Given the description of an element on the screen output the (x, y) to click on. 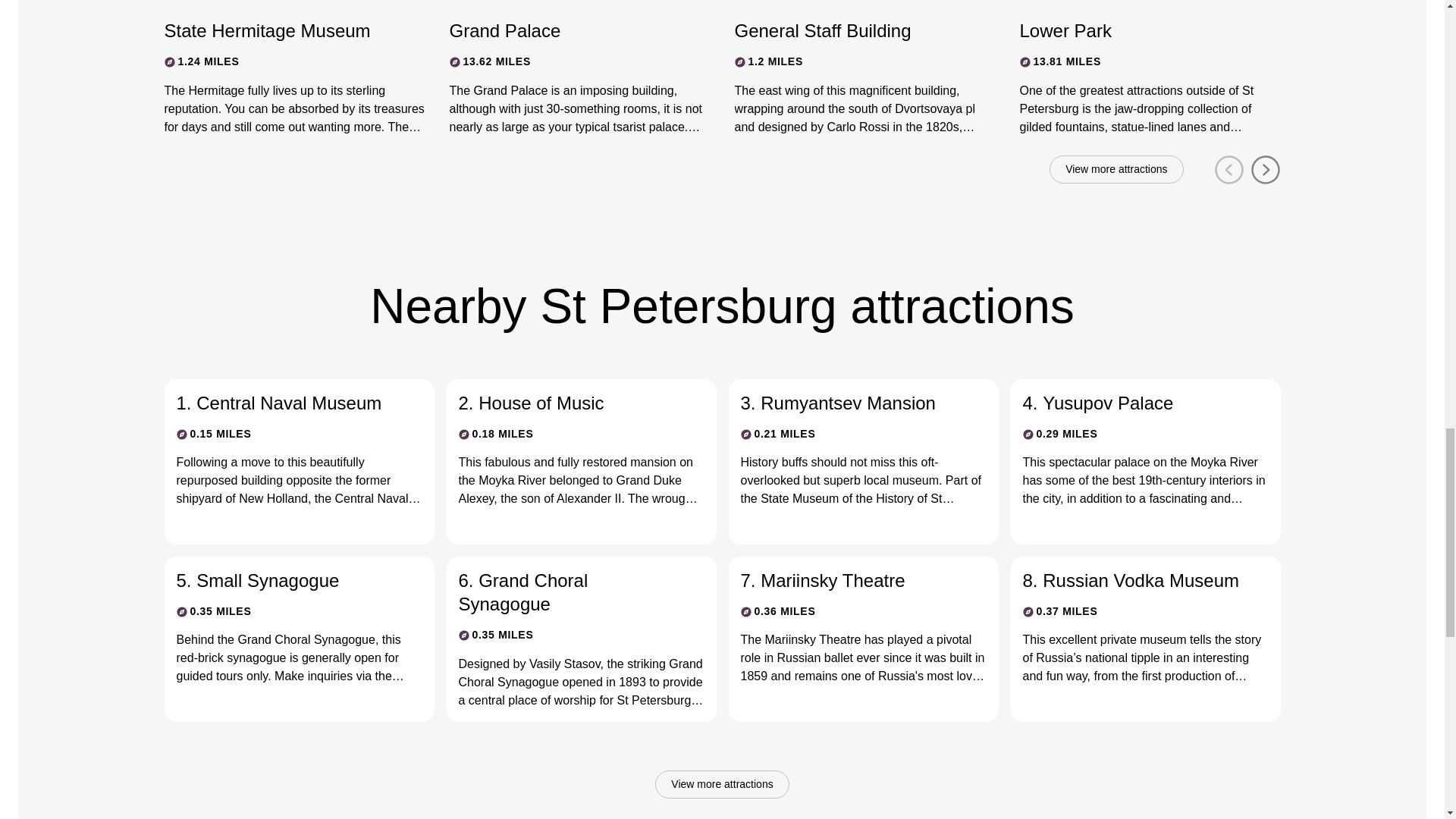
6. Grand Choral Synagogue (568, 591)
Grand Palace (566, 30)
Lower Park (1136, 30)
4. Yusupov Palace (1132, 402)
8. Russian Vodka Museum (1132, 580)
2. House of Music (568, 402)
7. Mariinsky Theatre (849, 580)
View more attractions (722, 784)
1. Central Naval Museum (286, 402)
State Hermitage Museum (280, 30)
General Staff Building (851, 30)
View more attractions (1115, 169)
5. Small Synagogue (286, 580)
3. Rumyantsev Mansion (849, 402)
